Given the description of an element on the screen output the (x, y) to click on. 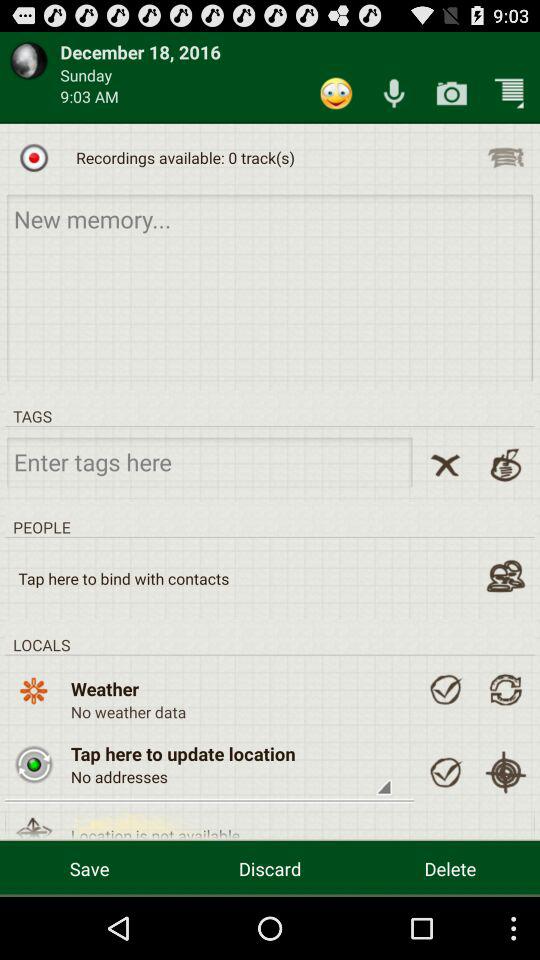
close button (445, 464)
